Given the description of an element on the screen output the (x, y) to click on. 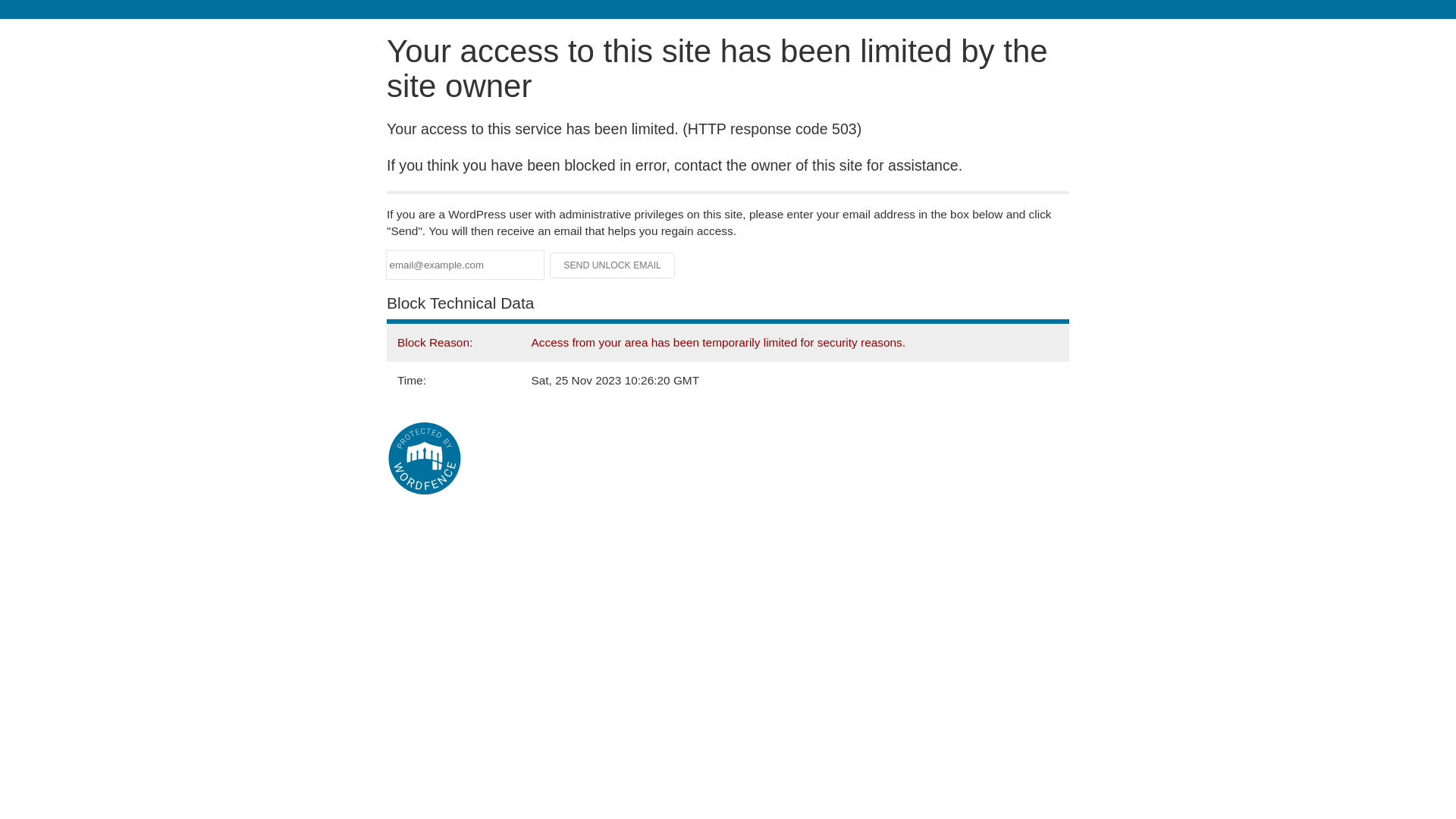
Send Unlock Email Element type: text (612, 265)
